Given the description of an element on the screen output the (x, y) to click on. 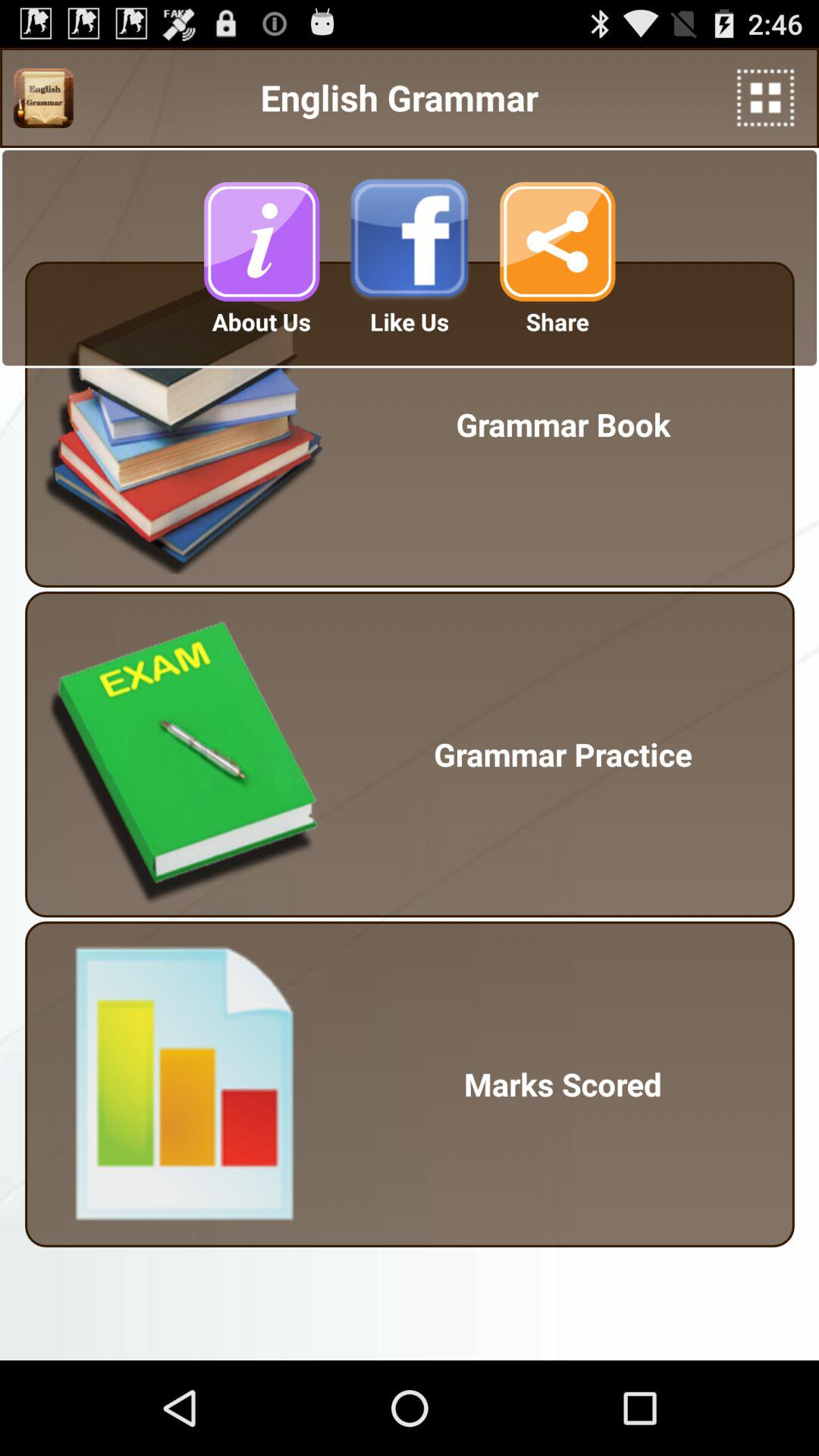
choose the item to the right of english grammar app (765, 97)
